Given the description of an element on the screen output the (x, y) to click on. 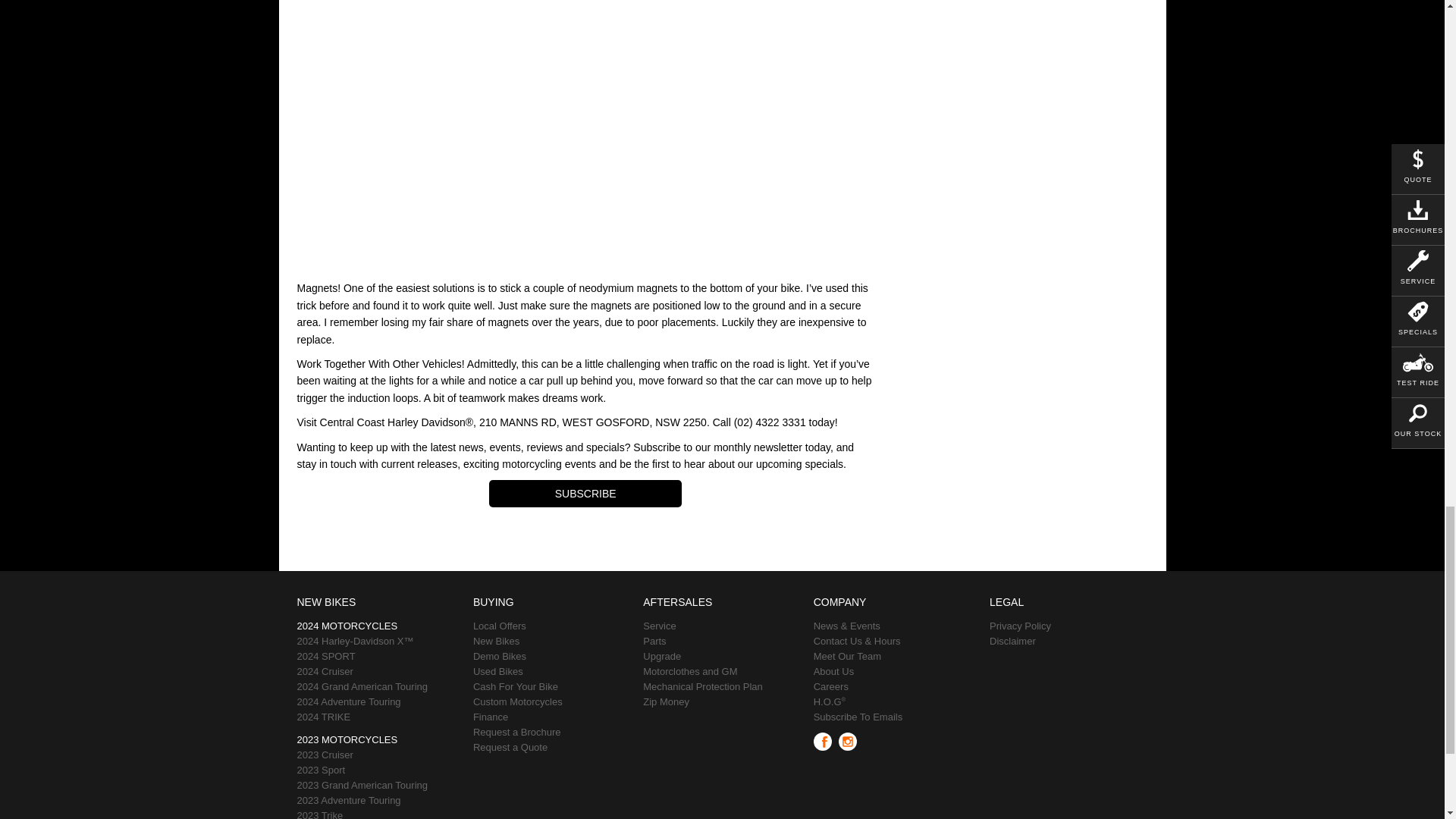
Zip Money (721, 702)
Motorclothes and GM (721, 671)
Request a Brochure (551, 732)
Request a Quote (551, 747)
Cash For Your Bike (551, 686)
Mechanical Protection Plan (721, 686)
